Given the description of an element on the screen output the (x, y) to click on. 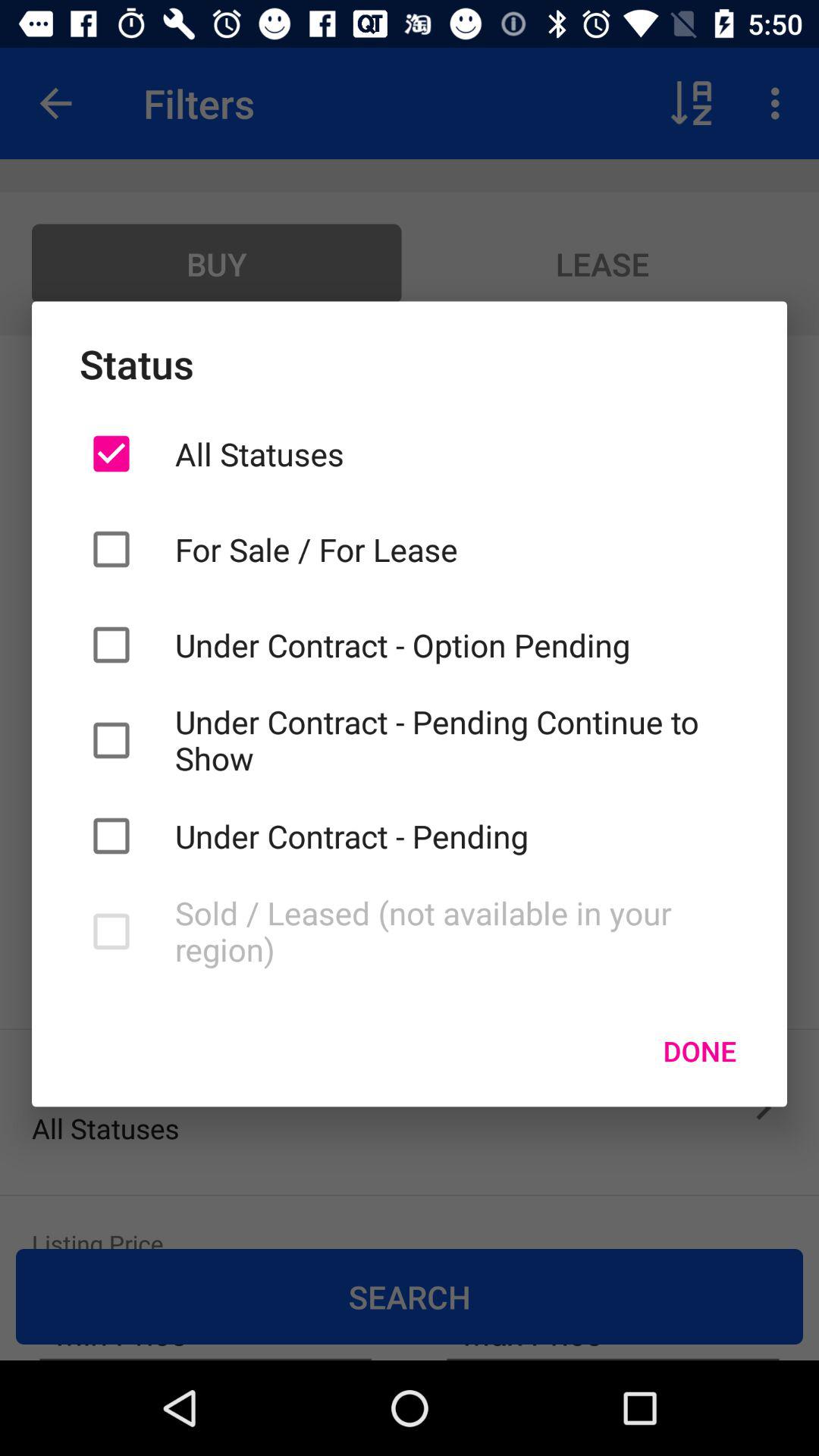
flip until the for sale for item (457, 549)
